Given the description of an element on the screen output the (x, y) to click on. 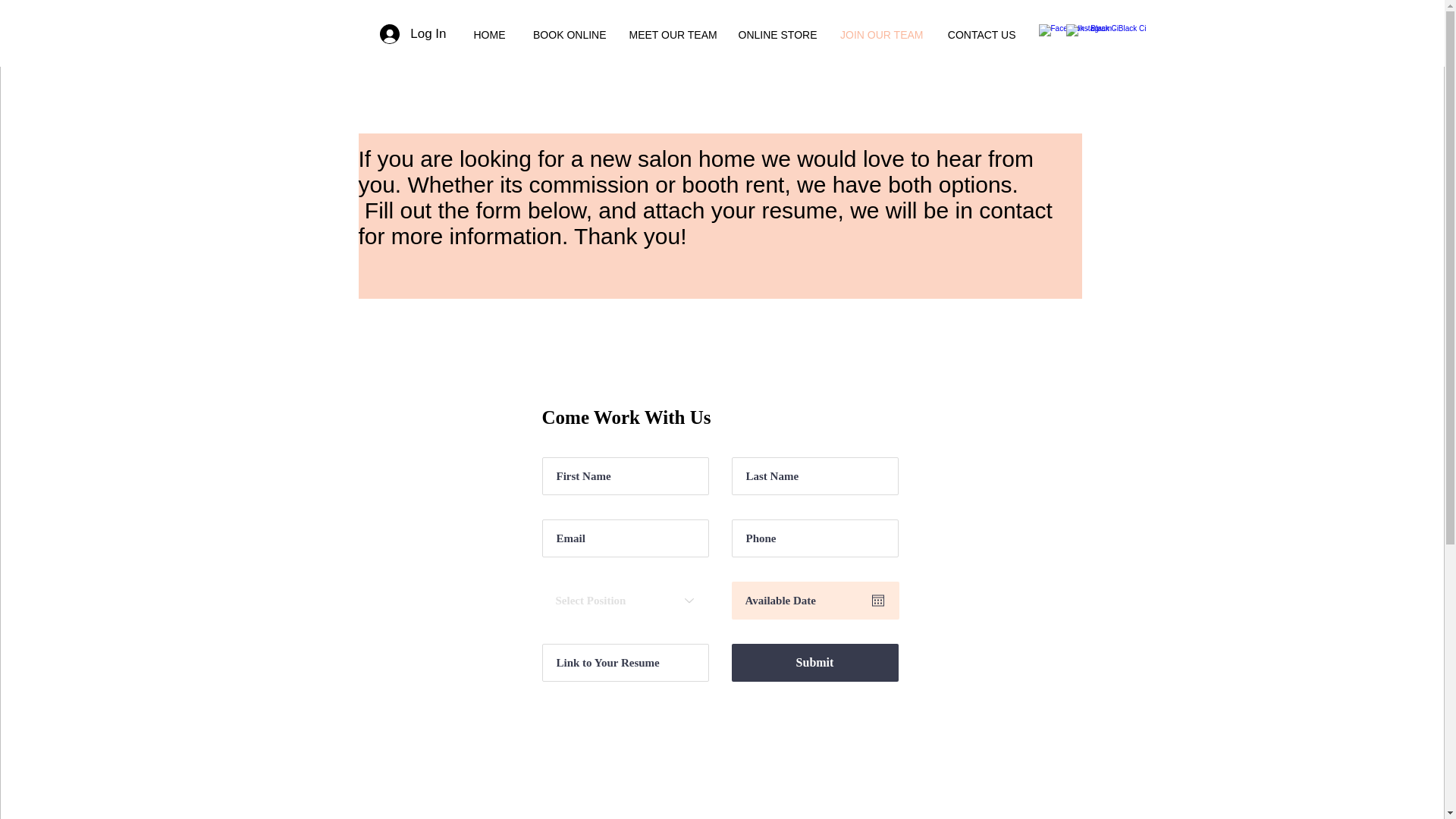
HOME (486, 34)
BOOK ONLINE (566, 34)
JOIN OUR TEAM (881, 34)
ONLINE STORE (777, 34)
CONTACT US (980, 34)
Log In (413, 33)
Submit (814, 662)
MEET OUR TEAM (671, 34)
